Given the description of an element on the screen output the (x, y) to click on. 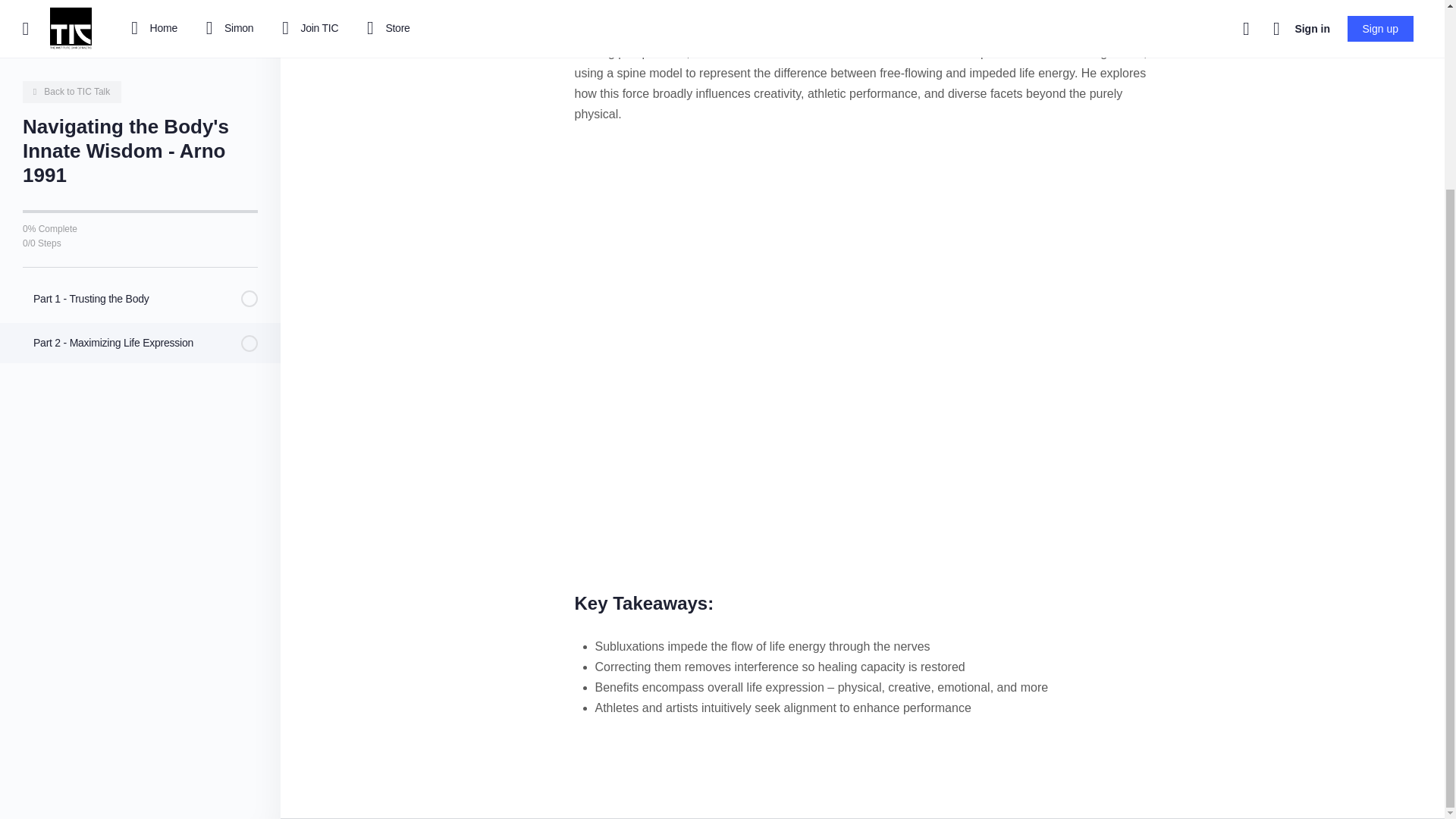
Part 1 - Trusting the Body (140, 61)
Part 2 - Maximizing Life Expression (140, 106)
Part 1 - Trusting the Body (140, 61)
Part 2 - Maximizing Life Expression (140, 106)
